Given the description of an element on the screen output the (x, y) to click on. 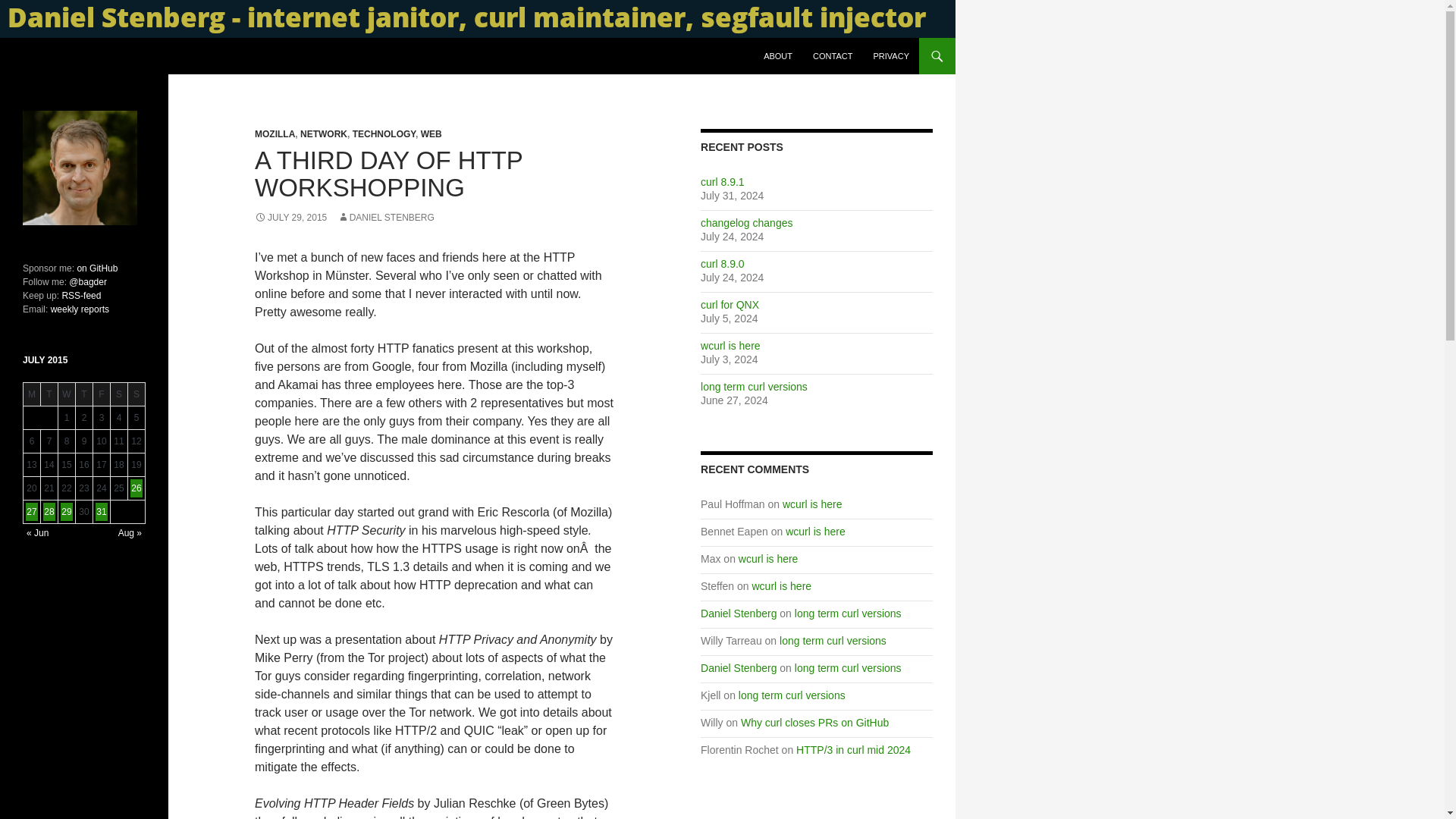
JULY 29, 2015 (290, 217)
curl 8.9.1 (722, 182)
long term curl versions (847, 613)
Daniel Stenberg (738, 613)
PRIVACY (891, 55)
long term curl versions (847, 667)
CONTACT (832, 55)
daniel.haxx.se (69, 55)
TECHNOLOGY (383, 133)
